Given the description of an element on the screen output the (x, y) to click on. 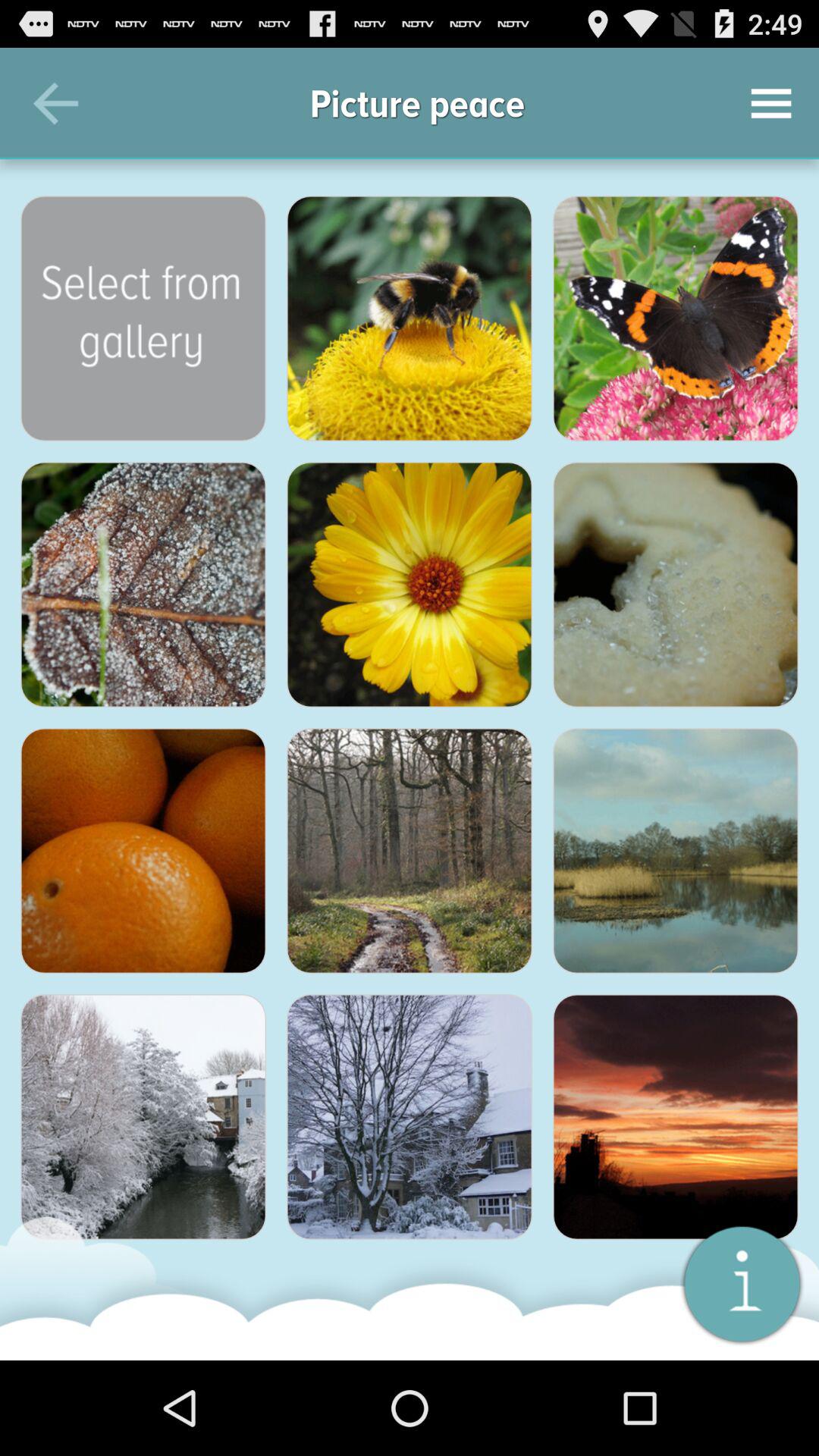
choose picture (409, 1116)
